Given the description of an element on the screen output the (x, y) to click on. 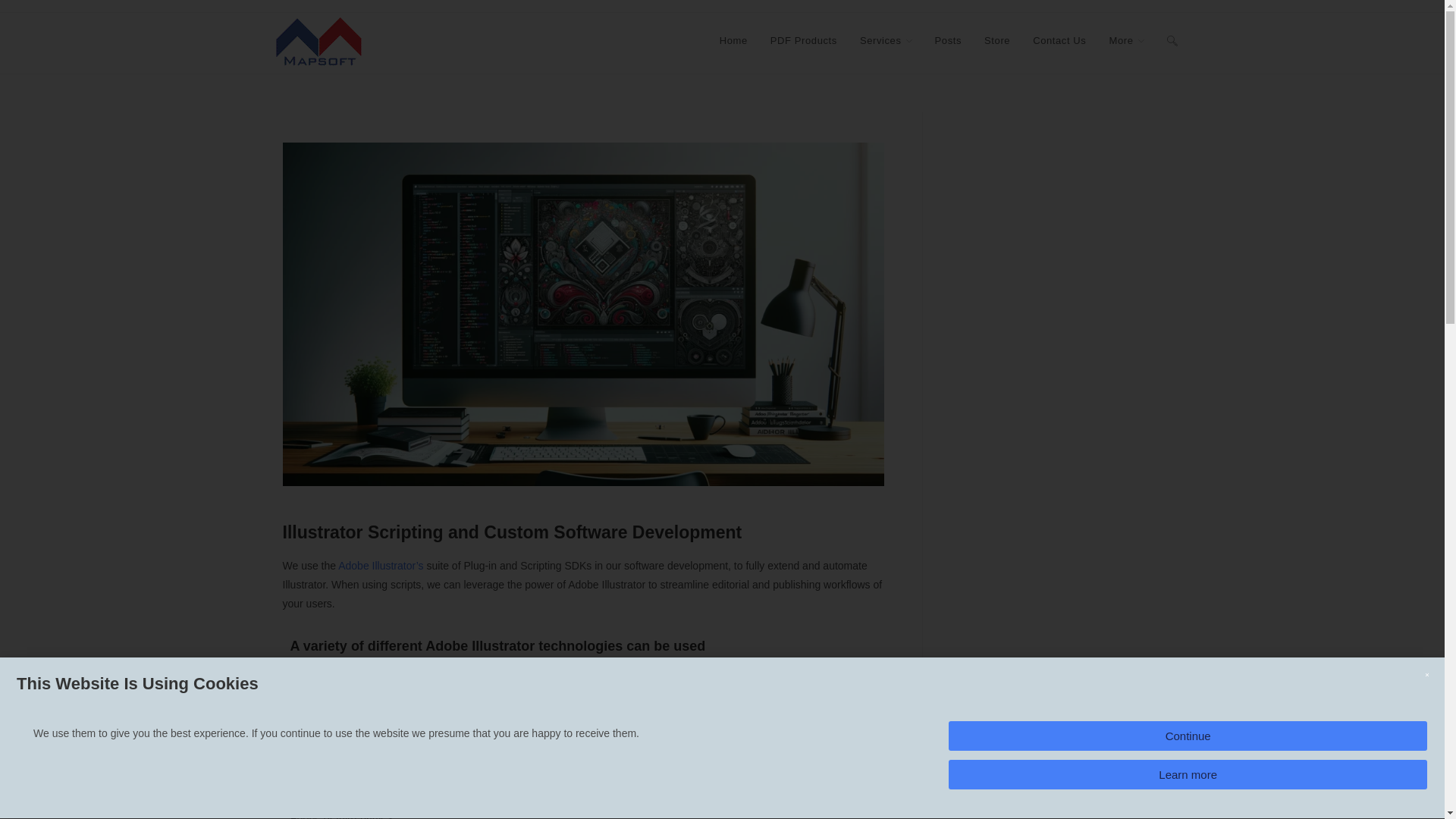
Posts (948, 40)
Home (732, 40)
Services (885, 40)
More (1125, 40)
PDF Products (803, 40)
Contact Us (1059, 40)
Store (997, 40)
Combining Illustrator Extension Technologies (320, 714)
